Given the description of an element on the screen output the (x, y) to click on. 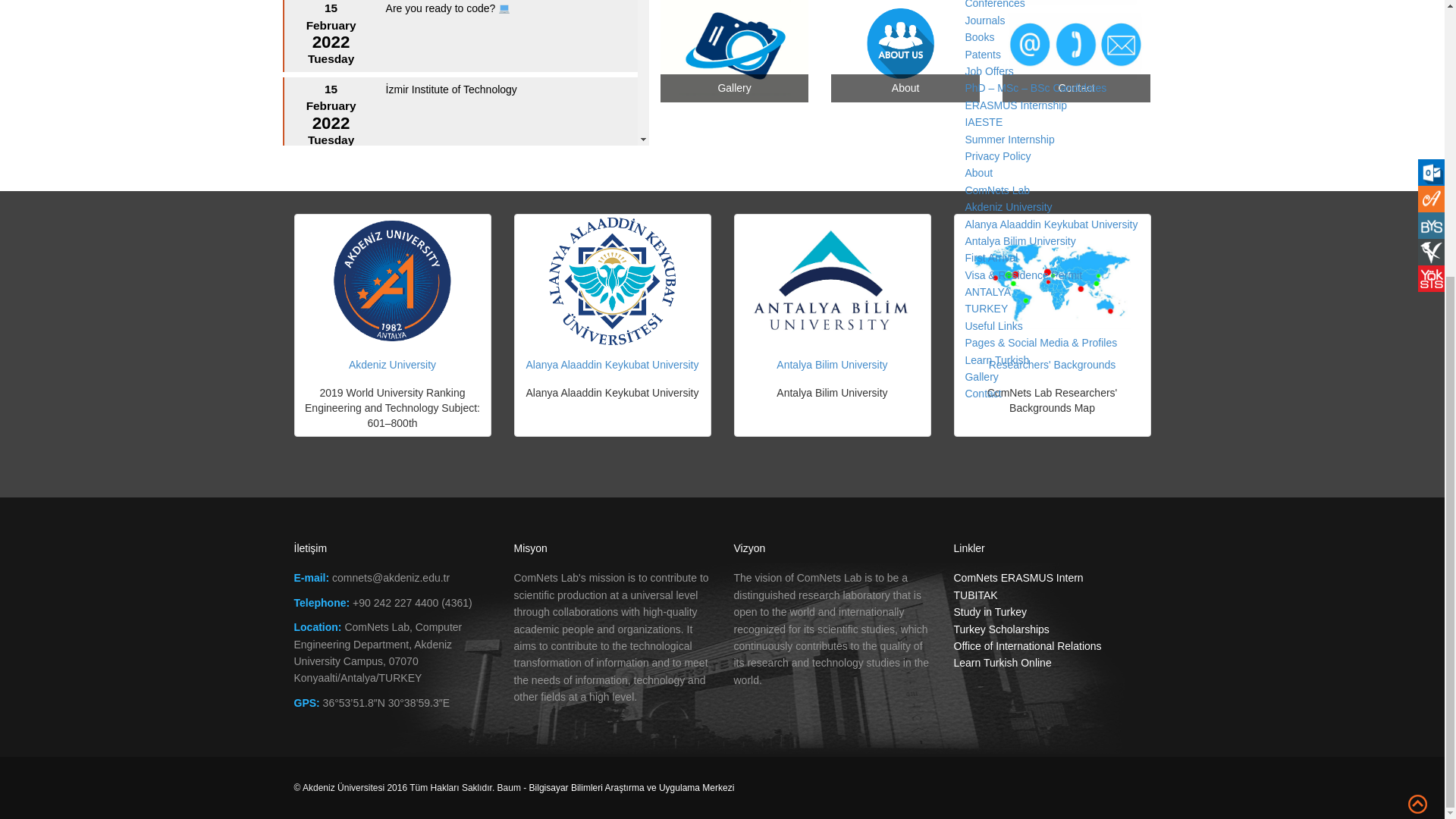
Books (978, 37)
Conferences (994, 3)
IAESTE (983, 121)
Alanya Alaaddin Keykubat University (1050, 224)
Job Offers (988, 70)
About (977, 173)
Journals (983, 19)
Akdeniz University (1007, 206)
Team (976, 21)
Summer Internship (1008, 139)
Privacy Policy (996, 155)
ComNets Lab (996, 190)
Home (977, 184)
Patents (981, 54)
Antalya Bilim University (1019, 241)
